Given the description of an element on the screen output the (x, y) to click on. 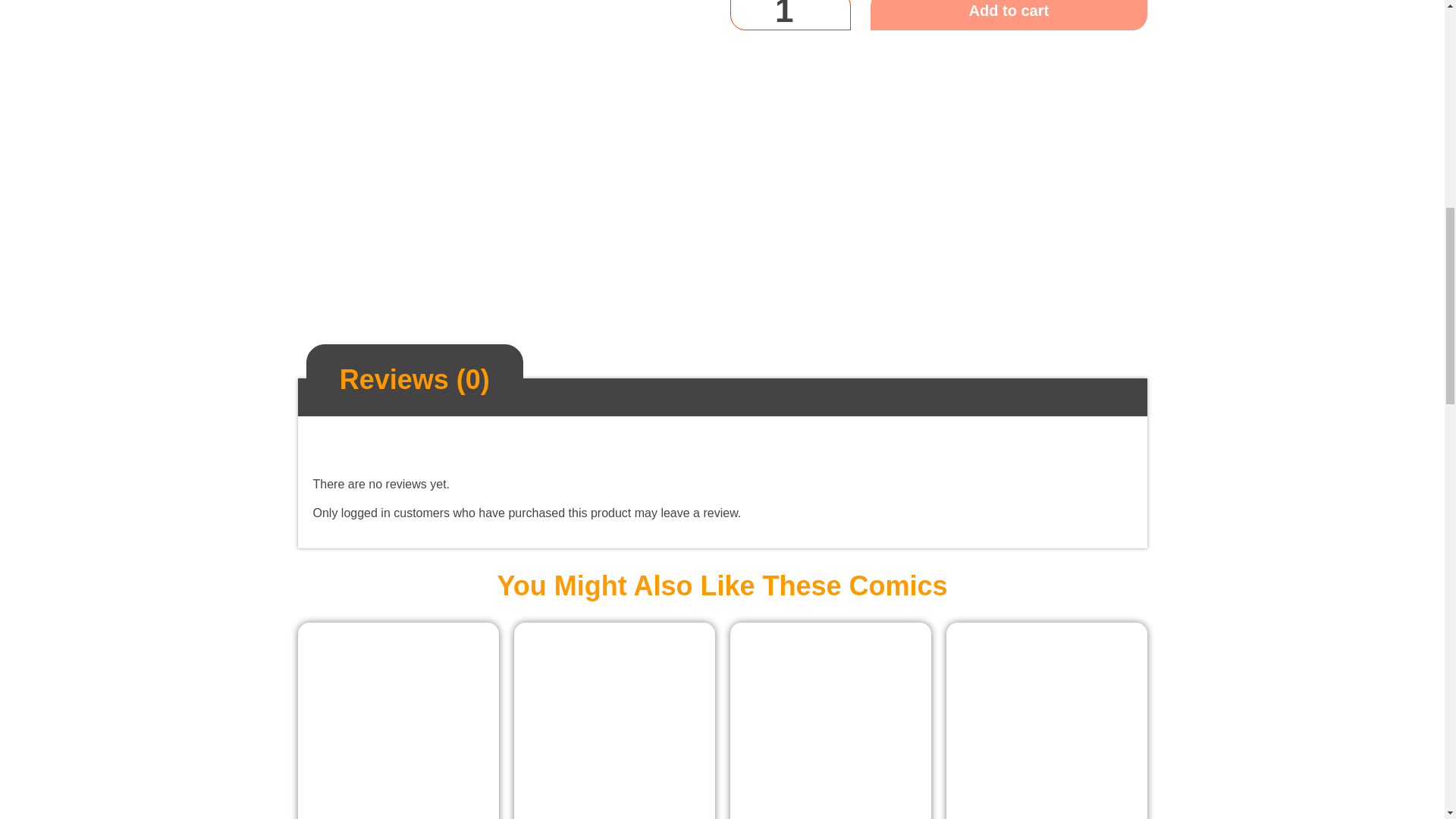
1 (789, 15)
Add to cart (1008, 15)
